Given the description of an element on the screen output the (x, y) to click on. 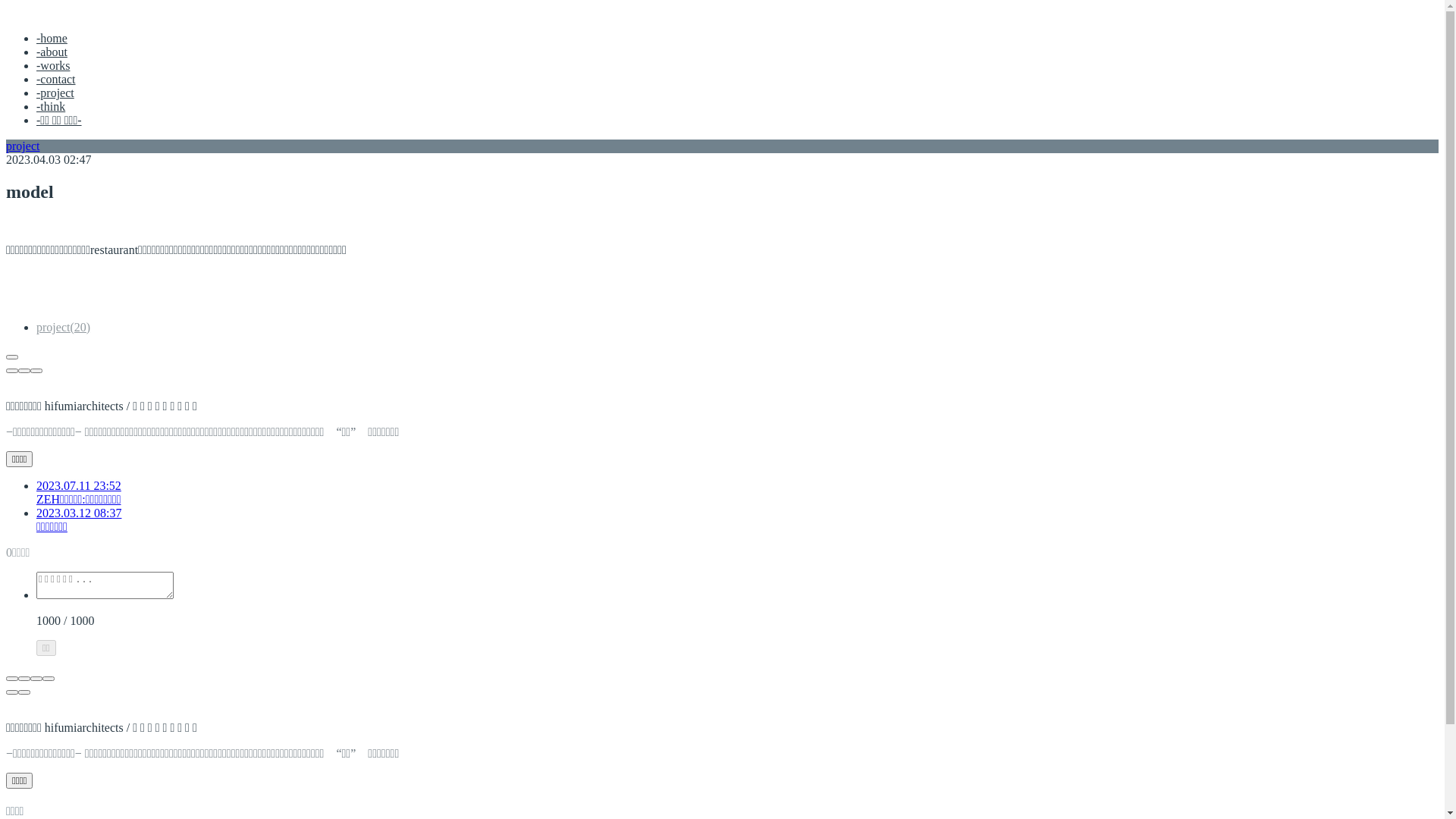
Zoom in/out Element type: hover (48, 678)
-about Element type: text (51, 51)
project Element type: text (22, 145)
Next (arrow right) Element type: hover (24, 692)
Previous (arrow left) Element type: hover (12, 692)
-contact Element type: text (55, 78)
project(20) Element type: text (63, 326)
Share Element type: hover (24, 678)
-project Element type: text (55, 92)
Close (Esc) Element type: hover (12, 678)
-think Element type: text (50, 106)
-works Element type: text (52, 65)
-home Element type: text (51, 37)
Toggle fullscreen Element type: hover (36, 678)
